Given the description of an element on the screen output the (x, y) to click on. 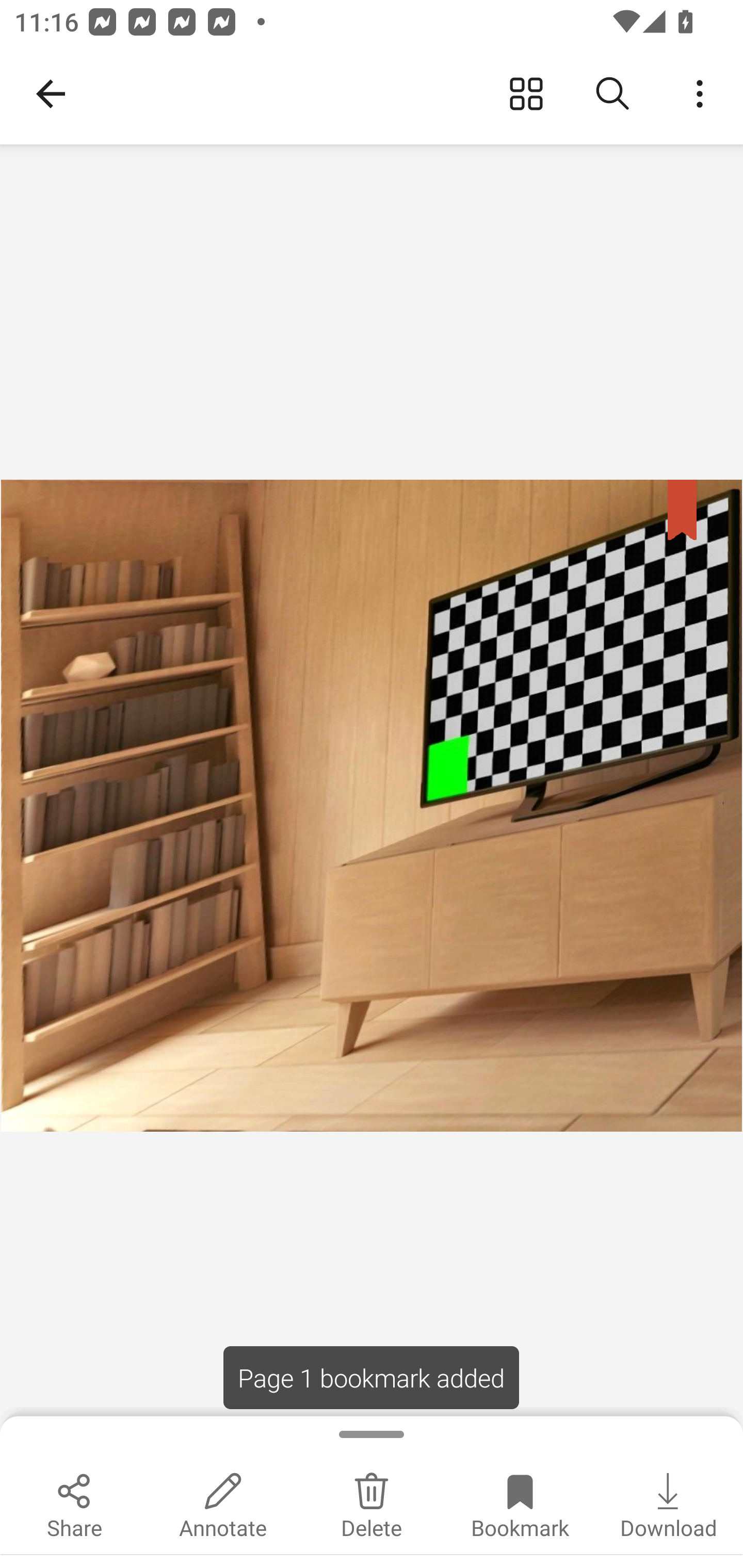
Navigate up (50, 93)
button (525, 93)
button (612, 93)
button (699, 93)
Share (74, 1502)
Annotate (222, 1502)
Delete (371, 1502)
Bookmark, selected Bookmark (519, 1502)
Download (668, 1502)
